Given the description of an element on the screen output the (x, y) to click on. 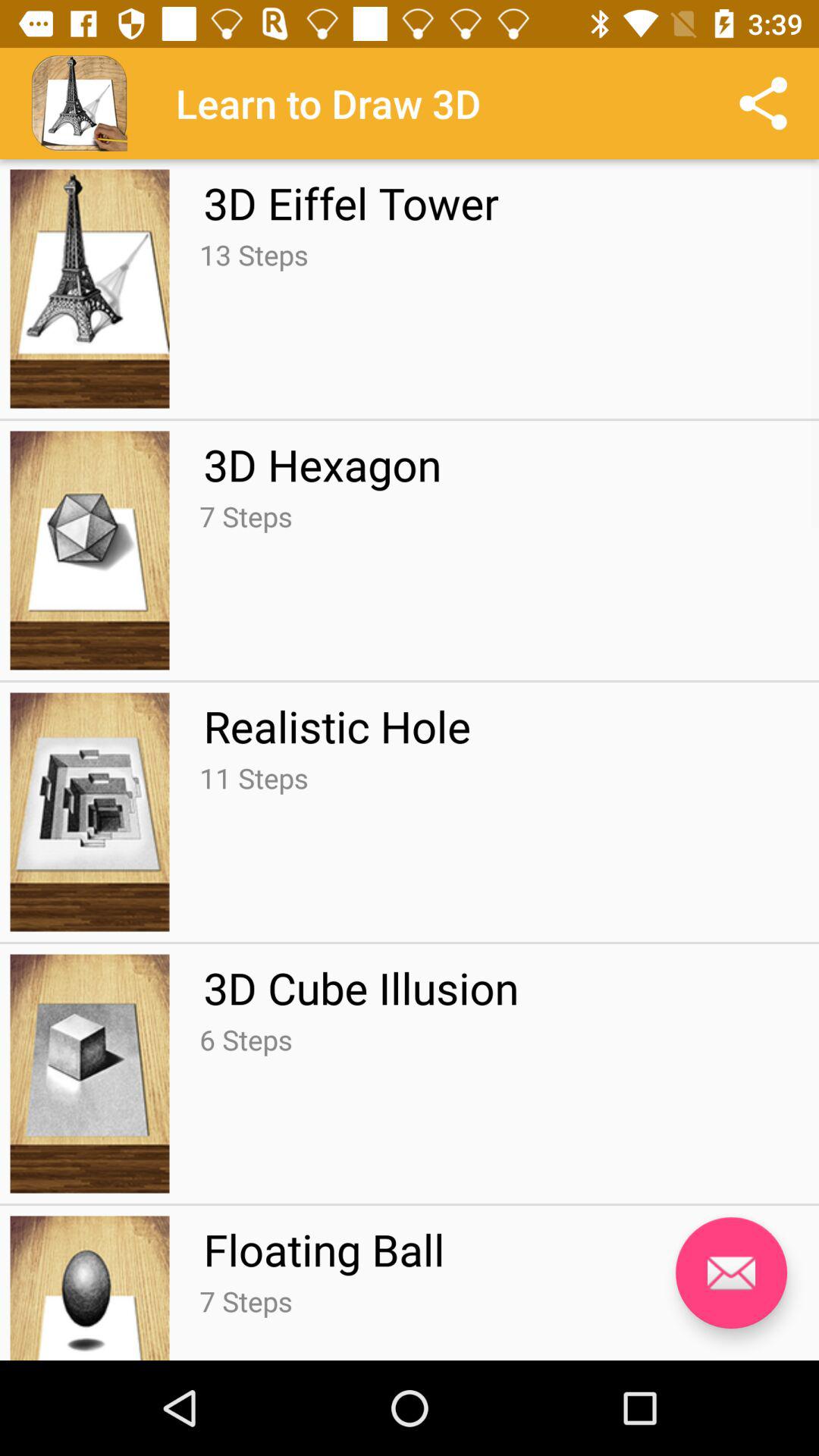
click on share icon at top right (763, 103)
click on the message icon which is beside floating ball (731, 1273)
